Given the description of an element on the screen output the (x, y) to click on. 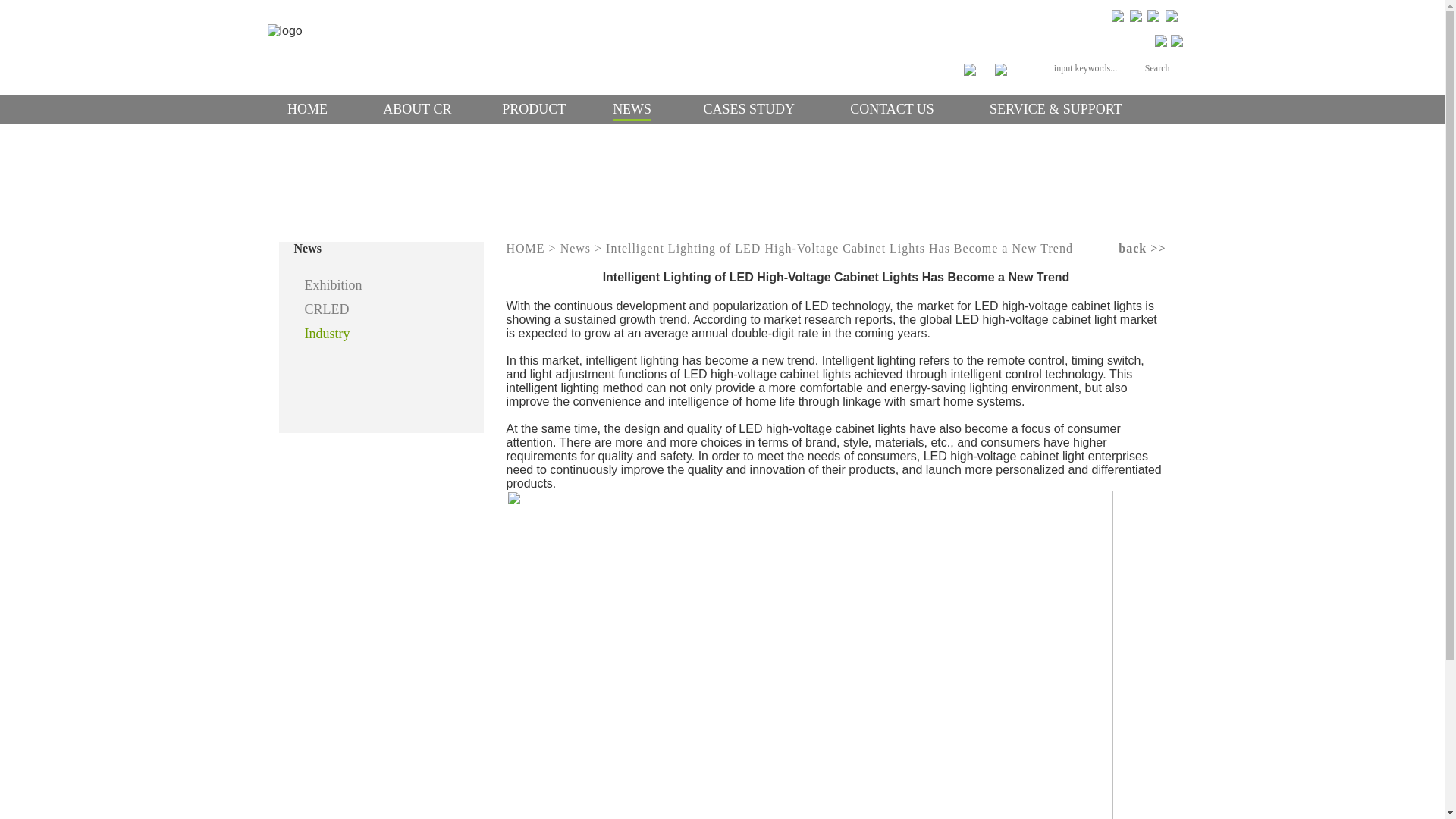
NEWS (631, 108)
CASES STUDY (748, 108)
CONTACT US (892, 108)
HOME (306, 108)
Search (1157, 67)
ABOUT CR (416, 108)
PRODUCT (534, 108)
Search (1157, 67)
